Given the description of an element on the screen output the (x, y) to click on. 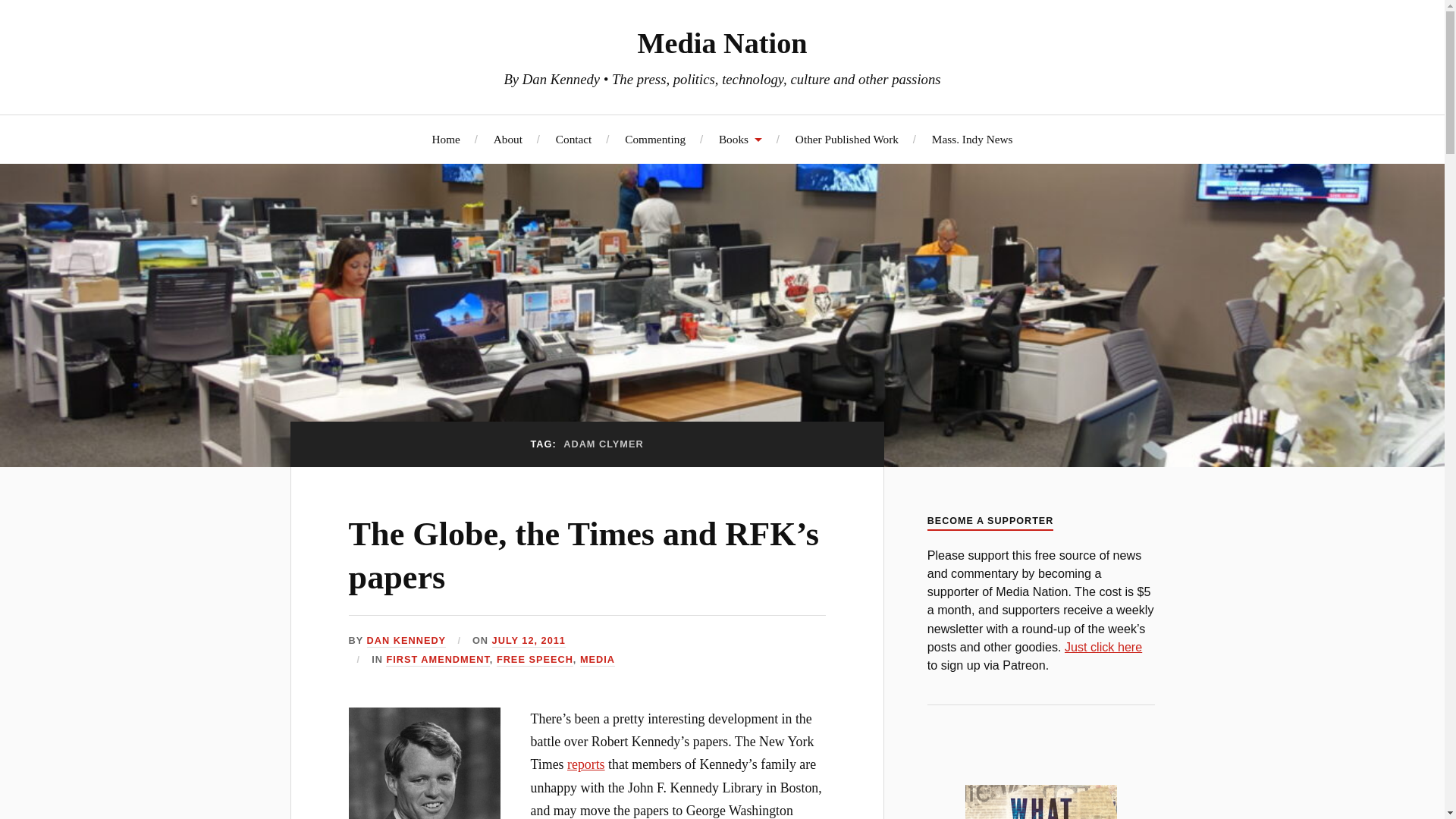
Mass. Indy News (972, 138)
FREE SPEECH (534, 659)
Books (740, 138)
DAN KENNEDY (406, 640)
reports (586, 764)
MEDIA (596, 659)
Commenting (654, 138)
FIRST AMENDMENT (437, 659)
Other Published Work (846, 138)
Posts by Dan Kennedy (406, 640)
JULY 12, 2011 (529, 640)
Media Nation (721, 42)
